Given the description of an element on the screen output the (x, y) to click on. 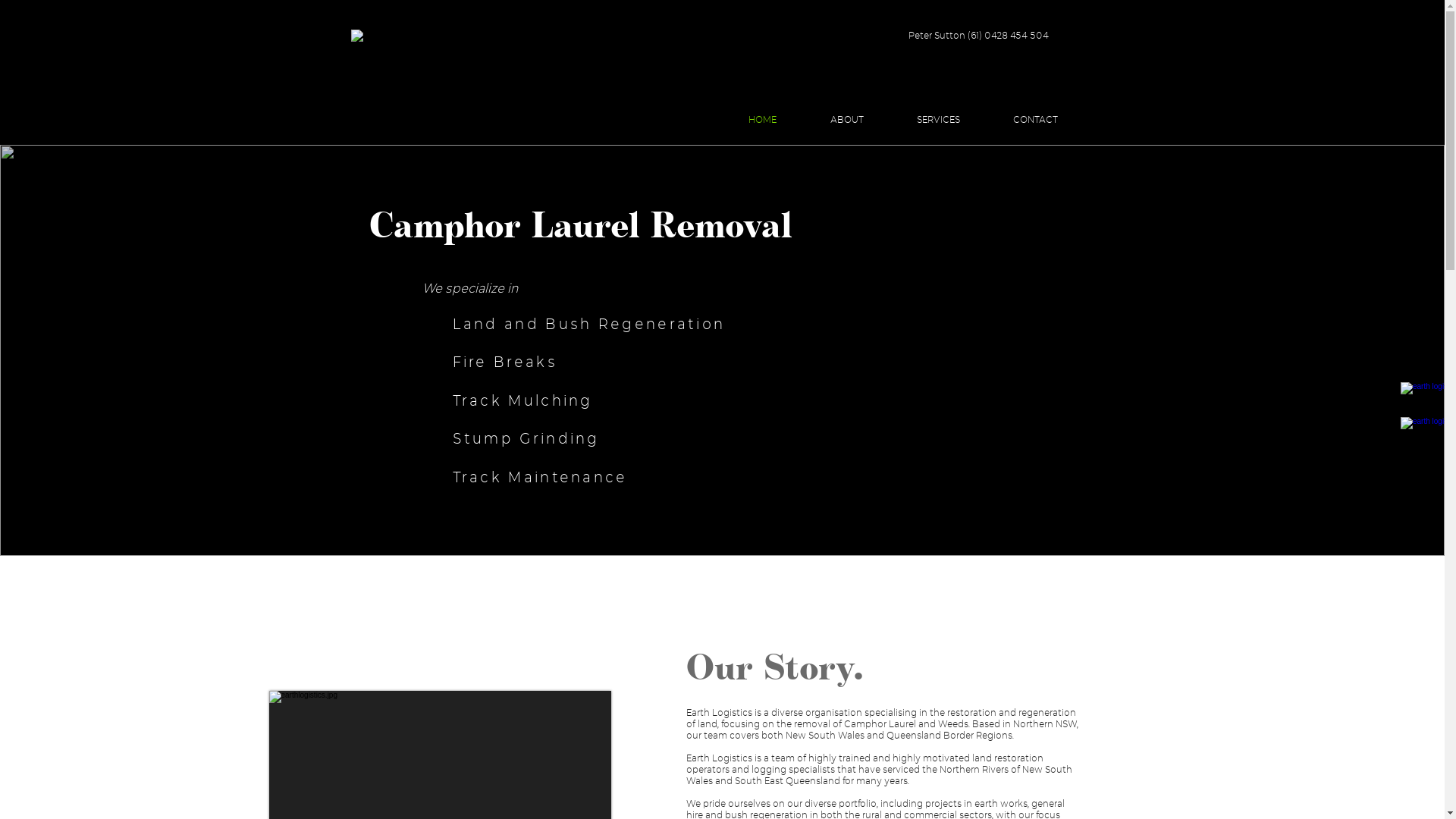
ABOUT Element type: text (846, 119)
CONTACT Element type: text (1034, 119)
Peter Sutton (61) 0428 454 504 Element type: text (978, 34)
SERVICES Element type: text (938, 119)
HOME Element type: text (762, 119)
